Given the description of an element on the screen output the (x, y) to click on. 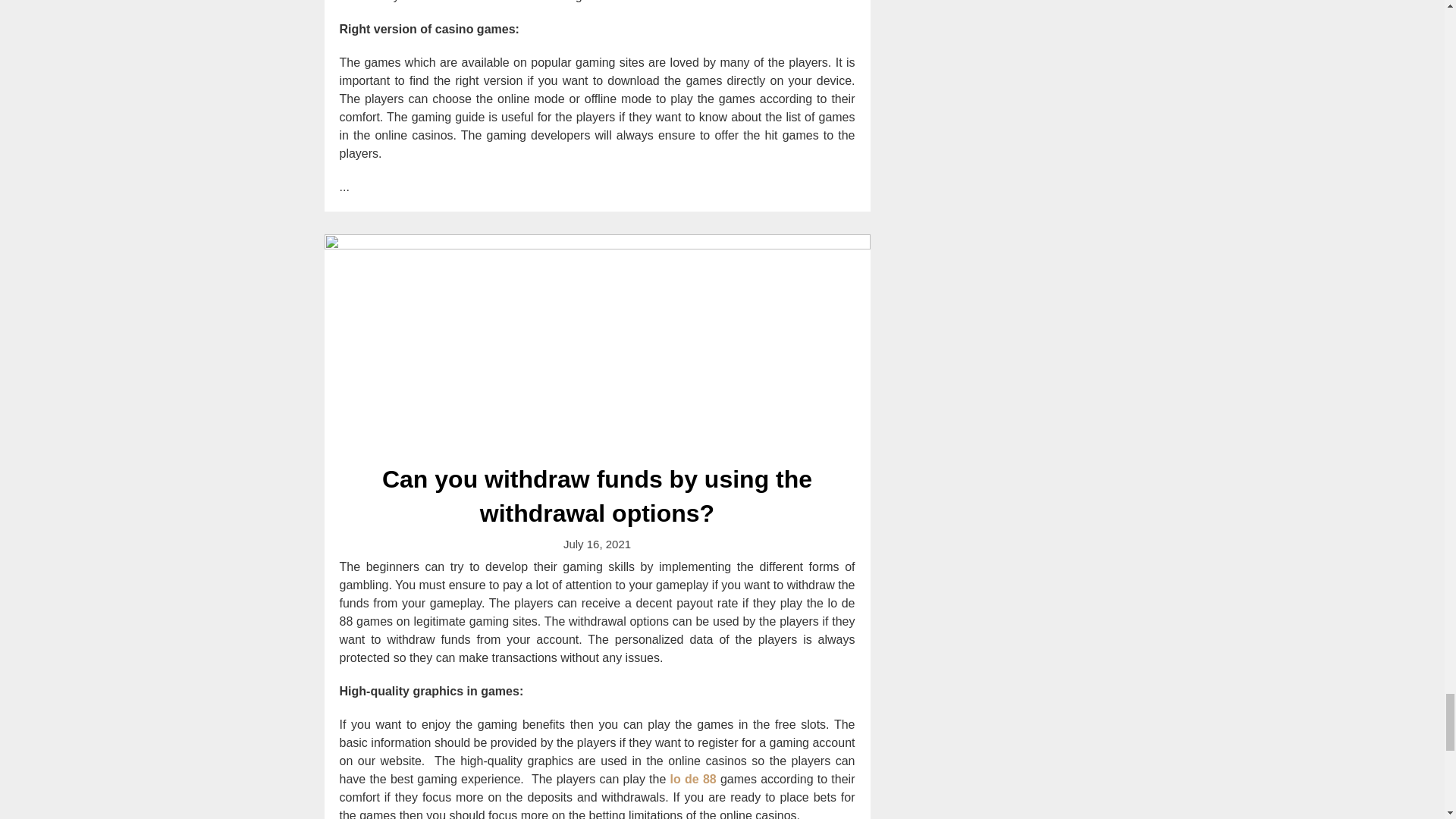
lo de 88 (692, 779)
Can you withdraw funds by using the withdrawal options? (596, 496)
Can you withdraw funds by using the withdrawal options? (596, 496)
Can you withdraw funds by using the withdrawal options? (597, 340)
